Given the description of an element on the screen output the (x, y) to click on. 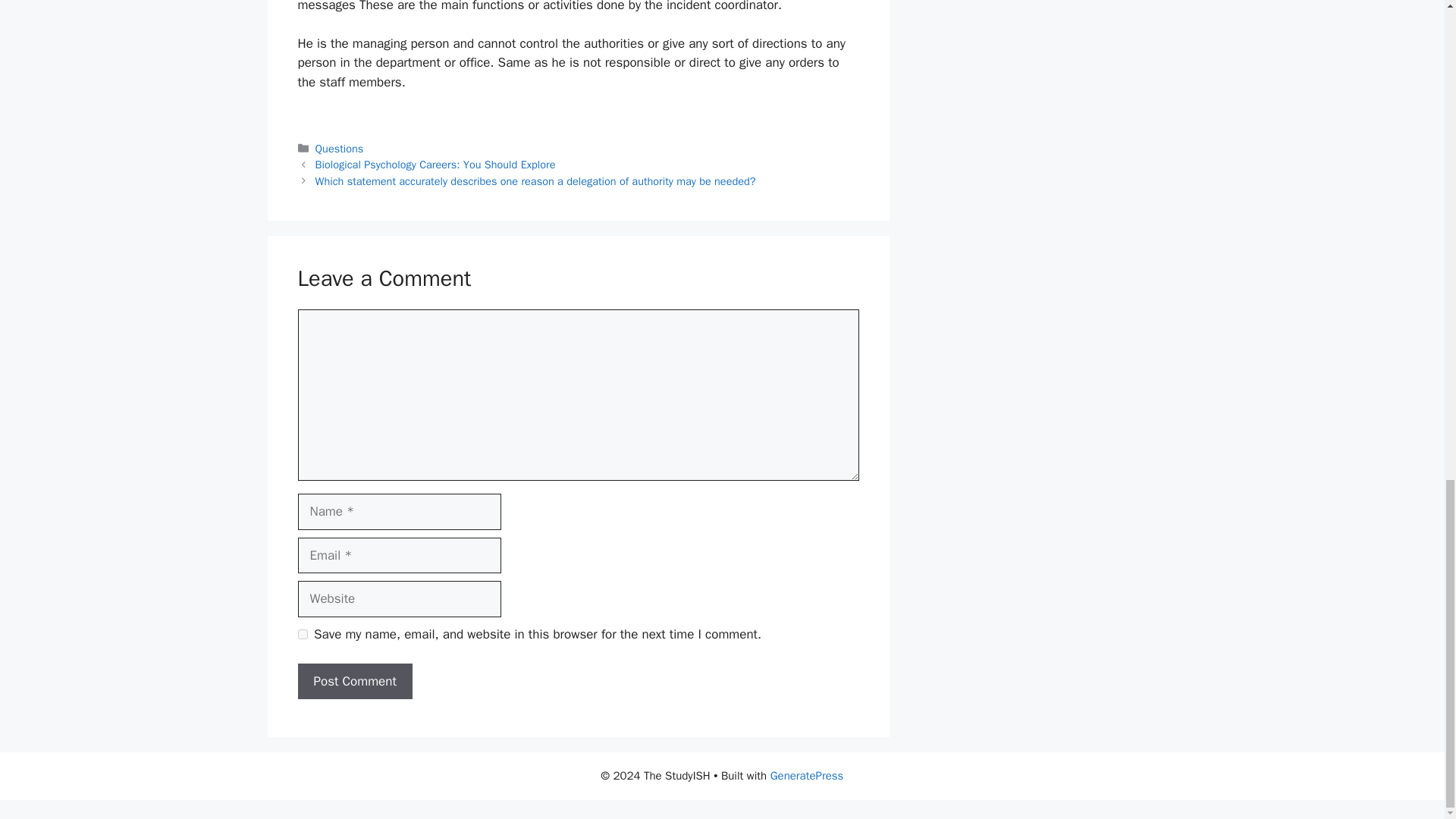
Biological Psychology Careers: You Should Explore (435, 164)
Post Comment (354, 681)
GeneratePress (807, 775)
Questions (339, 148)
Post Comment (354, 681)
yes (302, 634)
